Given the description of an element on the screen output the (x, y) to click on. 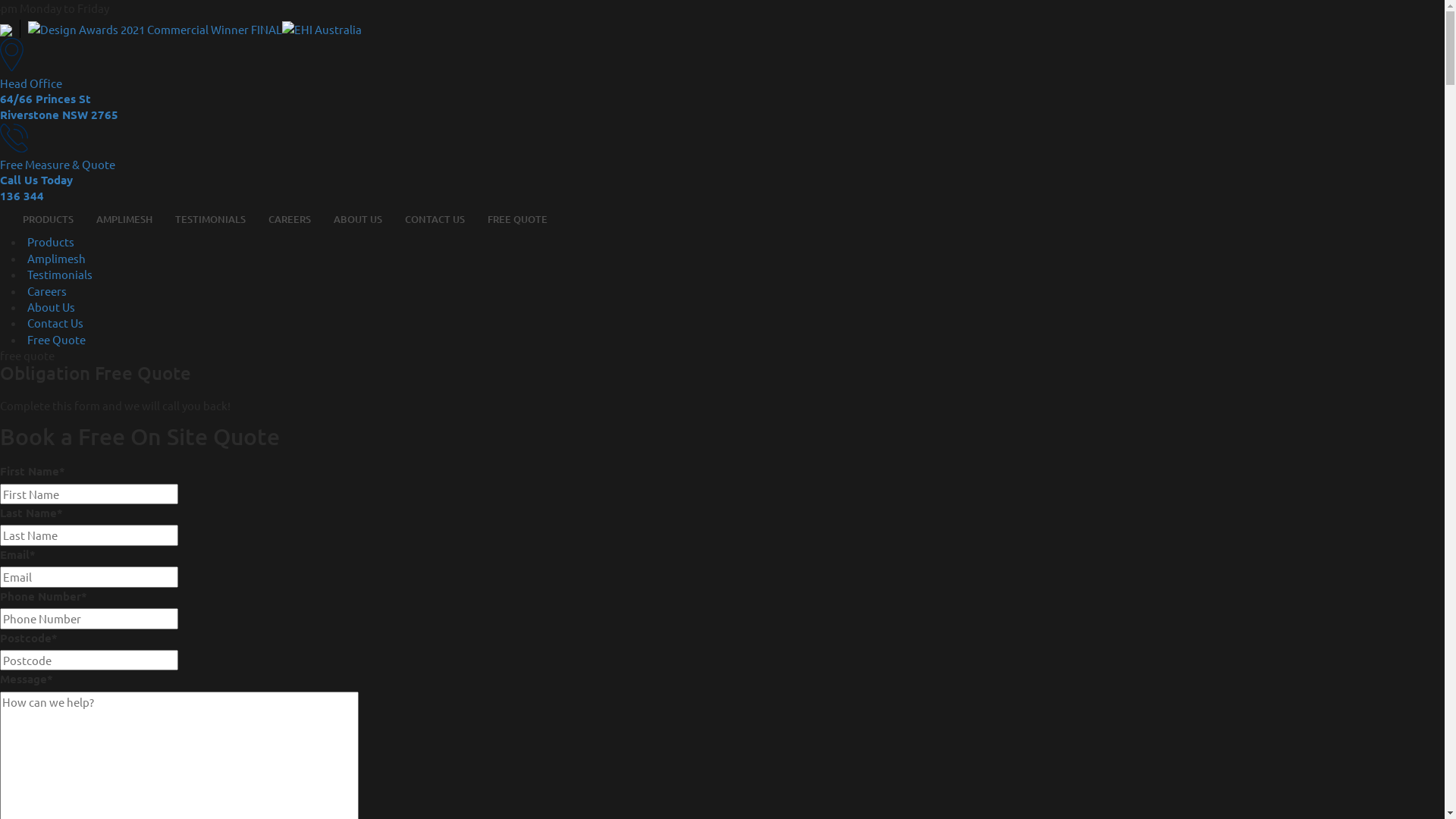
FREE QUOTE Element type: text (517, 219)
Contact Us Element type: text (55, 322)
AMPLIMESH Element type: text (123, 219)
CONTACT US Element type: text (434, 219)
Testimonials Element type: text (59, 273)
About Us Element type: text (51, 306)
Free Measure & Quote
Call Us Today
136 344 Element type: text (722, 163)
PRODUCTS Element type: text (47, 219)
ABOUT US Element type: text (357, 219)
Amplimesh Element type: text (56, 258)
Products Element type: text (50, 241)
Head Office
64/66 Princes St
Riverstone NSW 2765 Element type: text (722, 80)
TESTIMONIALS Element type: text (210, 219)
Careers Element type: text (46, 290)
Free Quote Element type: text (56, 339)
CAREERS Element type: text (289, 219)
